Given the description of an element on the screen output the (x, y) to click on. 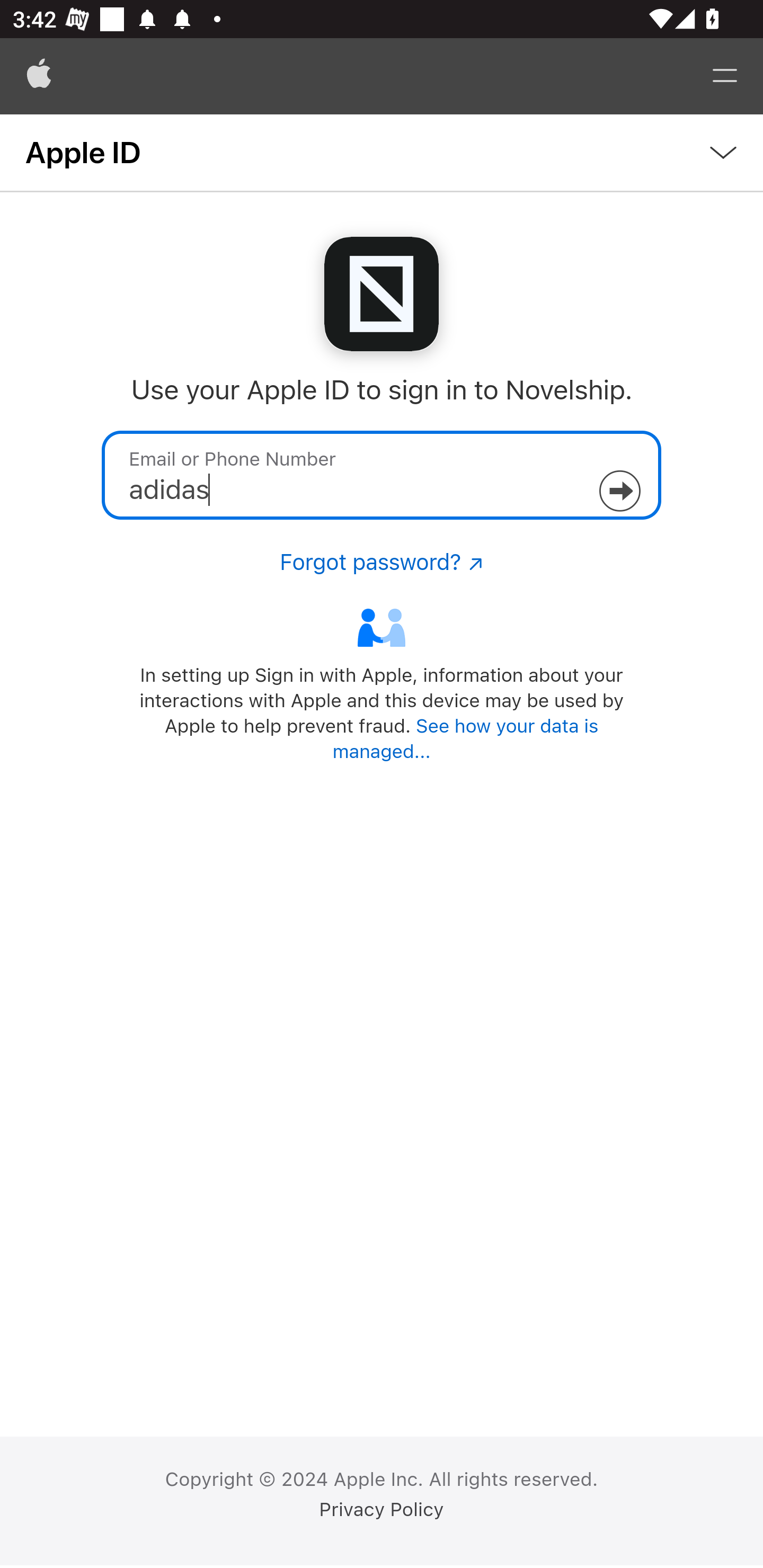
Apple (38, 75)
Menu (724, 75)
adidas (381, 475)
Continue (618, 490)
Privacy Policy (381, 1509)
